Given the description of an element on the screen output the (x, y) to click on. 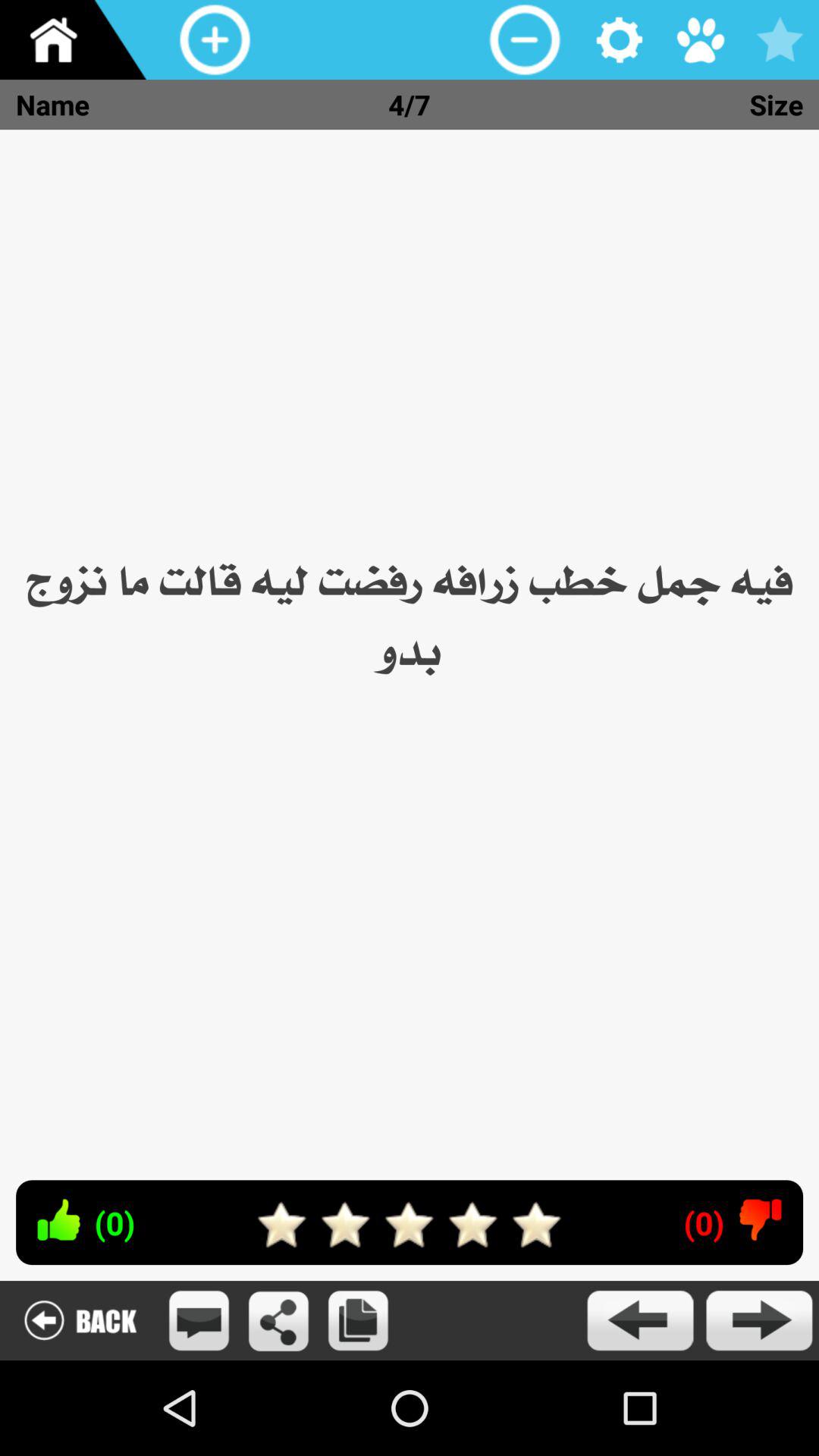
this button is to activate the settings (619, 39)
